Given the description of an element on the screen output the (x, y) to click on. 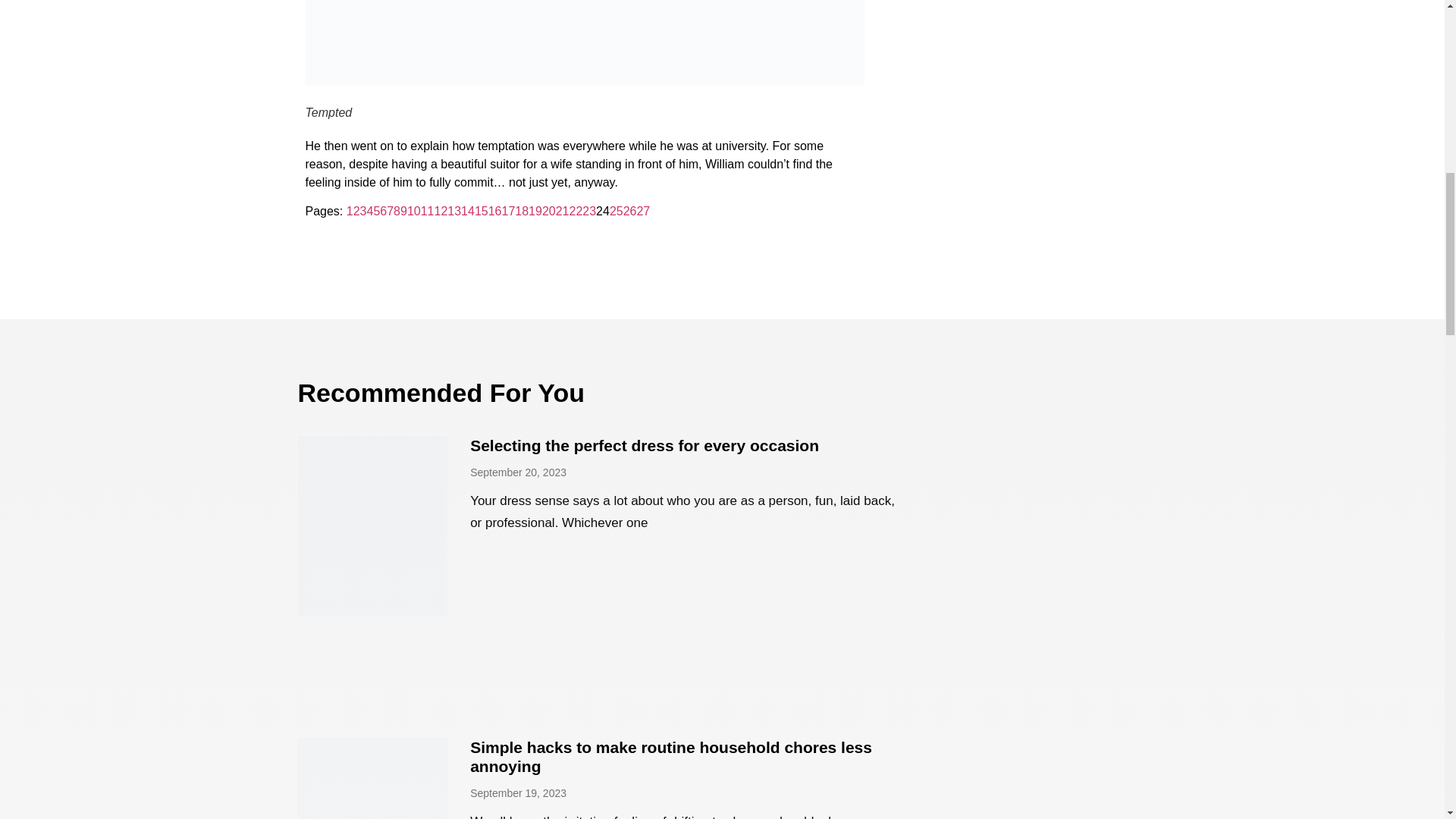
22 (575, 210)
3 (362, 210)
21 (562, 210)
12 (440, 210)
9 (403, 210)
1 (349, 210)
13 (453, 210)
16 (494, 210)
10 (413, 210)
11 (426, 210)
2 (356, 210)
14 (467, 210)
4 (369, 210)
18 (521, 210)
17 (508, 210)
